Given the description of an element on the screen output the (x, y) to click on. 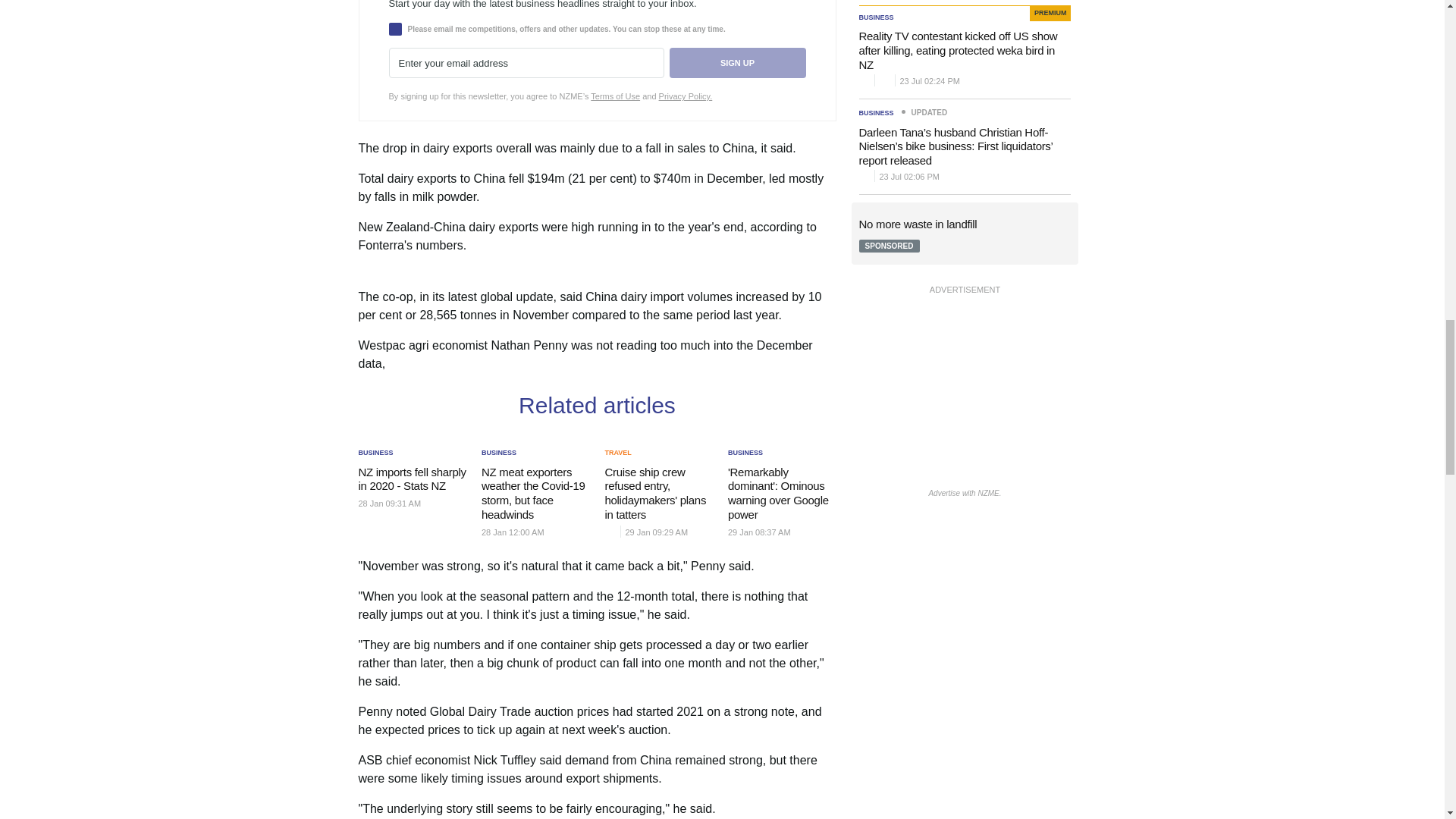
3rd party ad content (964, 392)
